Given the description of an element on the screen output the (x, y) to click on. 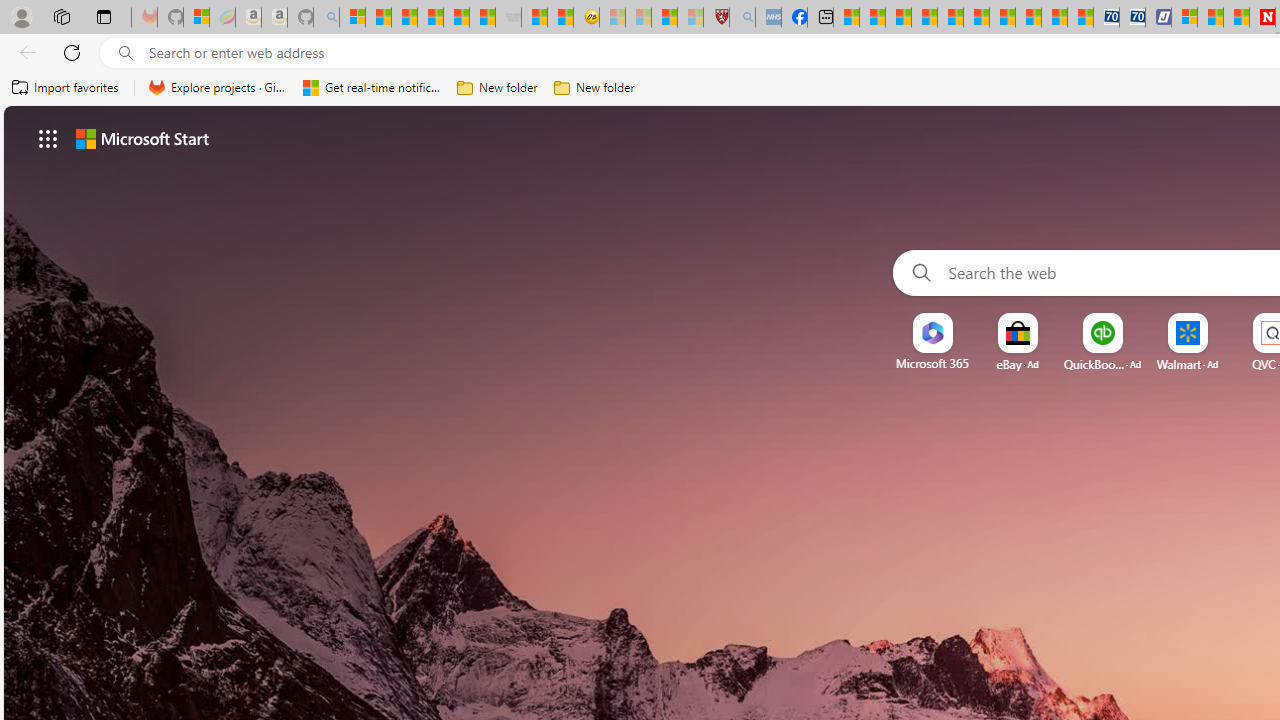
Microsoft-Report a Concern to Bing (196, 17)
Cheap Hotels - Save70.com (1132, 17)
Combat Siege - Sleeping (507, 17)
Climate Damage Becomes Too Severe To Reverse (923, 17)
MSNBC - MSN (846, 17)
Stocks - MSN (482, 17)
To get missing image descriptions, open the context menu. (932, 333)
NCL Adult Asthma Inhaler Choice Guideline - Sleeping (768, 17)
